Given the description of an element on the screen output the (x, y) to click on. 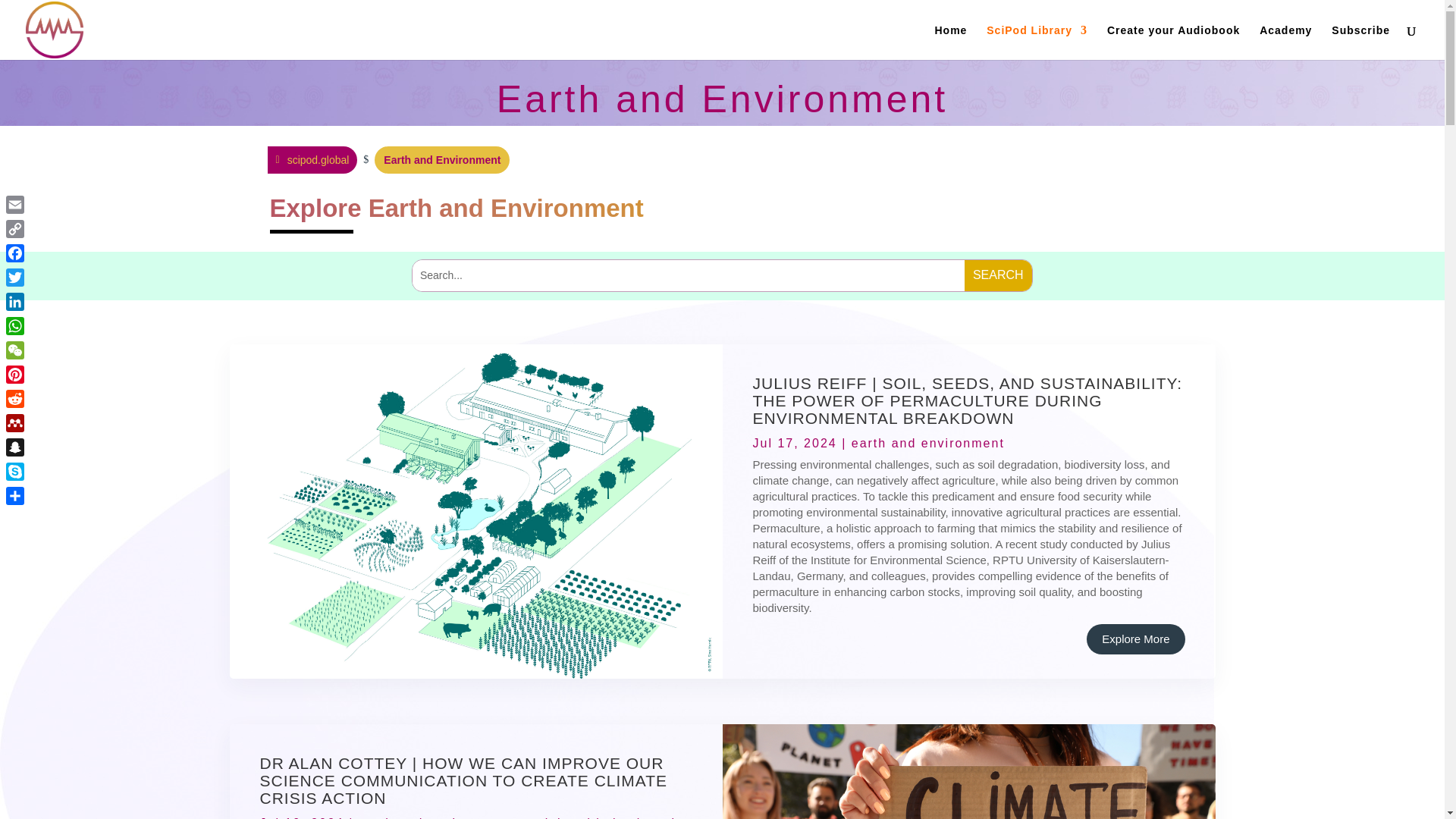
Facebook (14, 252)
scipod.global (311, 159)
earth and environment (435, 817)
Email (14, 204)
Pinterest (14, 374)
Search (997, 275)
Create your Audiobook (1173, 41)
Academy (1285, 41)
Twitter (14, 277)
Explore More (1135, 639)
WeChat (14, 350)
Search (997, 275)
Search (997, 275)
Home (950, 41)
earth and environment (927, 442)
